Given the description of an element on the screen output the (x, y) to click on. 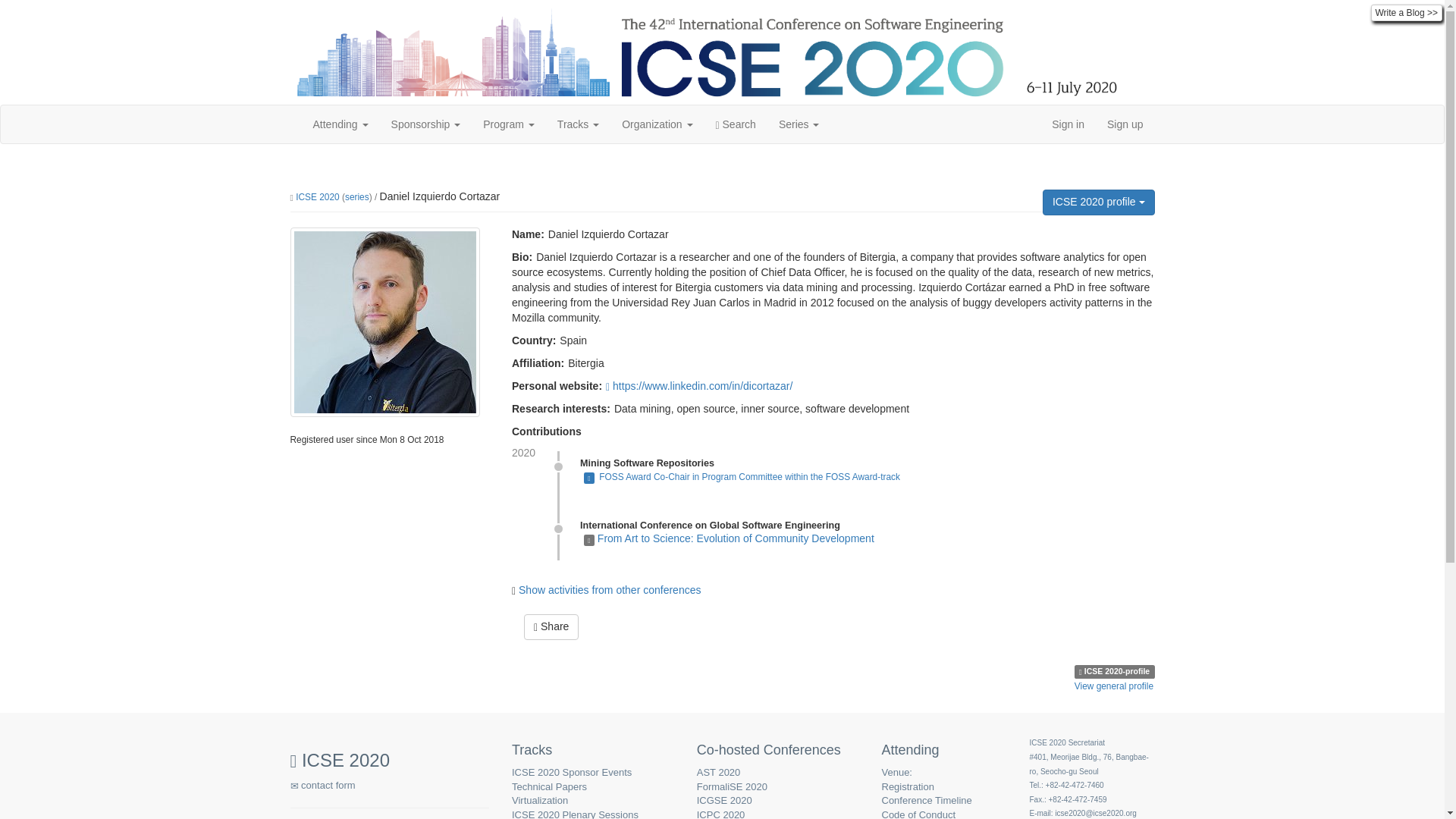
Attending (340, 124)
Sponsorship (425, 124)
Program (508, 124)
